Given the description of an element on the screen output the (x, y) to click on. 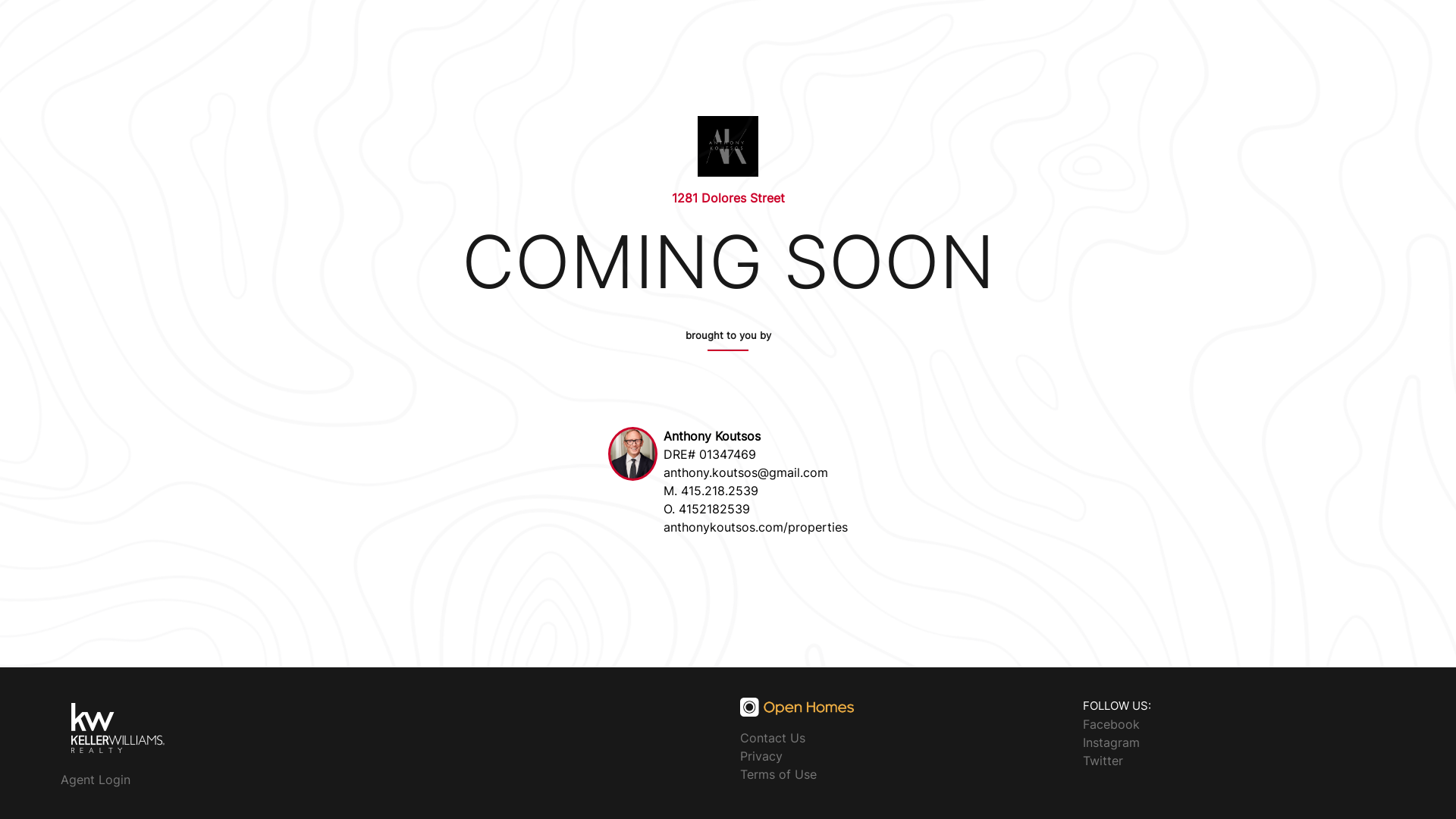
Instagram Element type: text (1110, 741)
4152182539 Element type: text (713, 508)
Agent Login Element type: text (95, 779)
Contact Us Element type: text (772, 737)
Privacy Element type: text (761, 755)
Terms of Use Element type: text (778, 773)
Facebook Element type: text (1110, 723)
anthonykoutsos.com/properties Element type: text (755, 526)
Twitter Element type: text (1102, 759)
415.218.2539 Element type: text (719, 490)
anthony.koutsos@gmail.com Element type: text (745, 472)
